Given the description of an element on the screen output the (x, y) to click on. 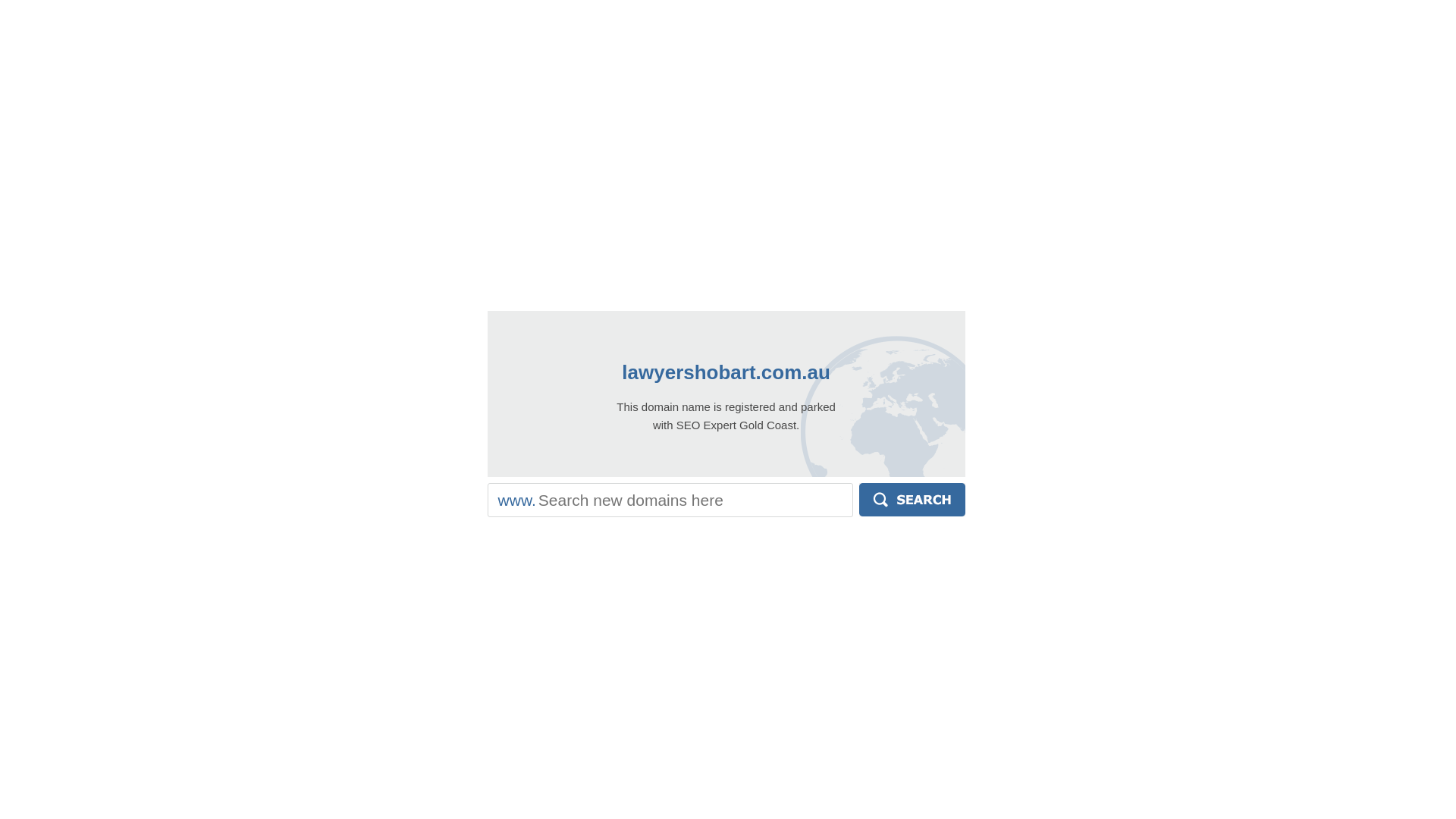
Search Element type: text (912, 499)
